Given the description of an element on the screen output the (x, y) to click on. 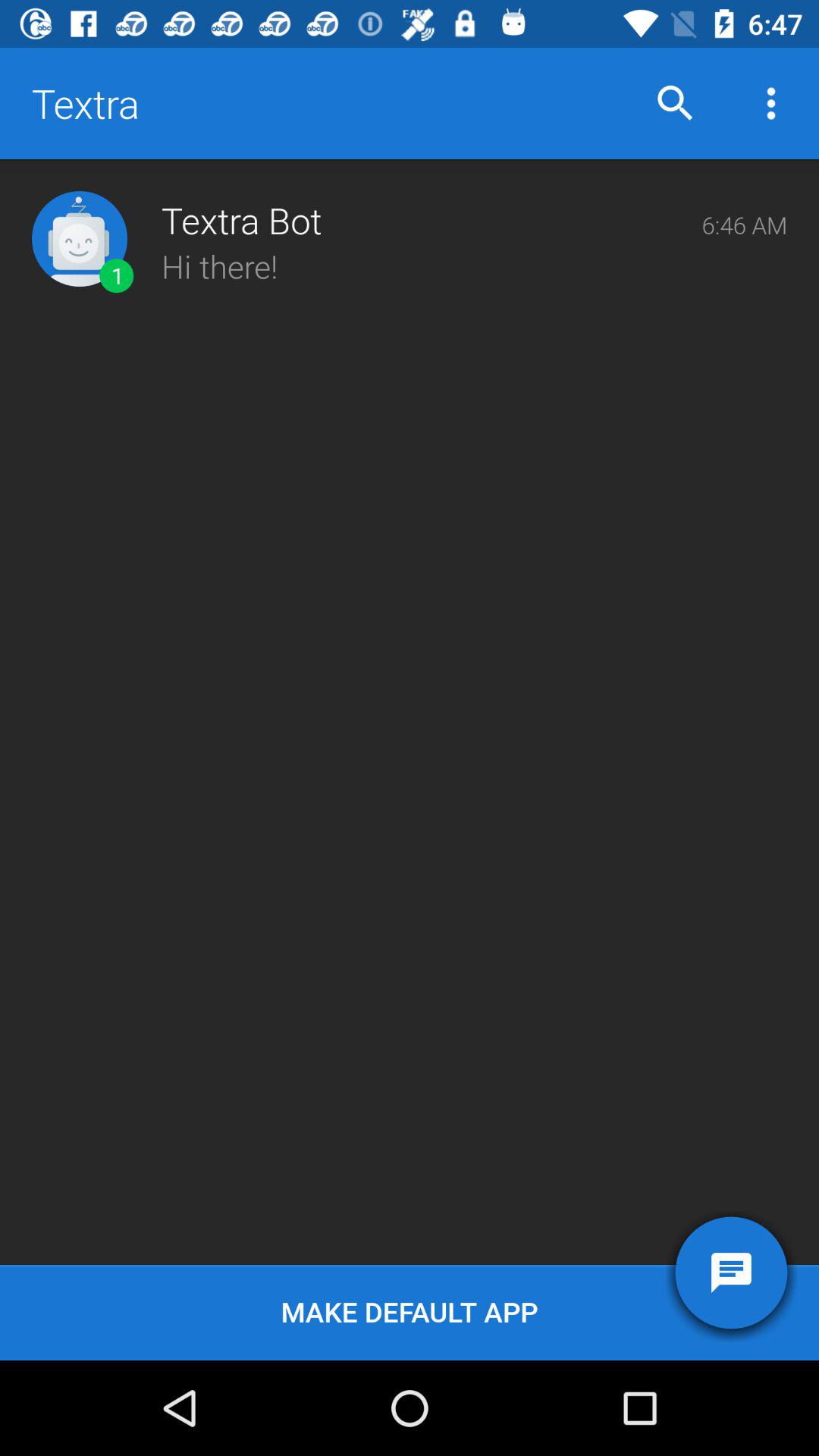
open icon above textra bot icon (675, 103)
